Given the description of an element on the screen output the (x, y) to click on. 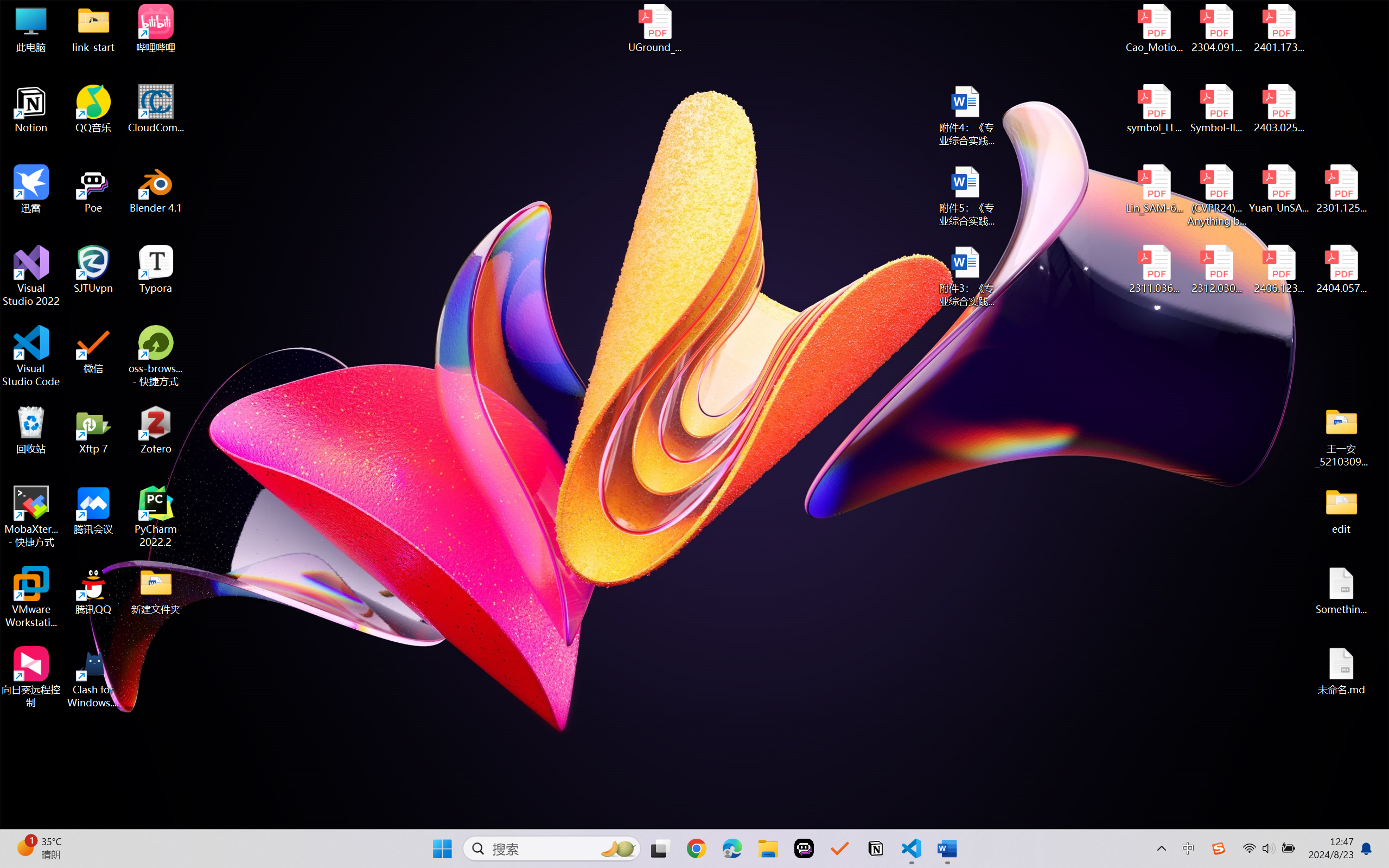
Typora (156, 269)
2312.03032v2.pdf (1216, 269)
2404.05719v1.pdf (1340, 269)
2403.02502v1.pdf (1278, 109)
